Given the description of an element on the screen output the (x, y) to click on. 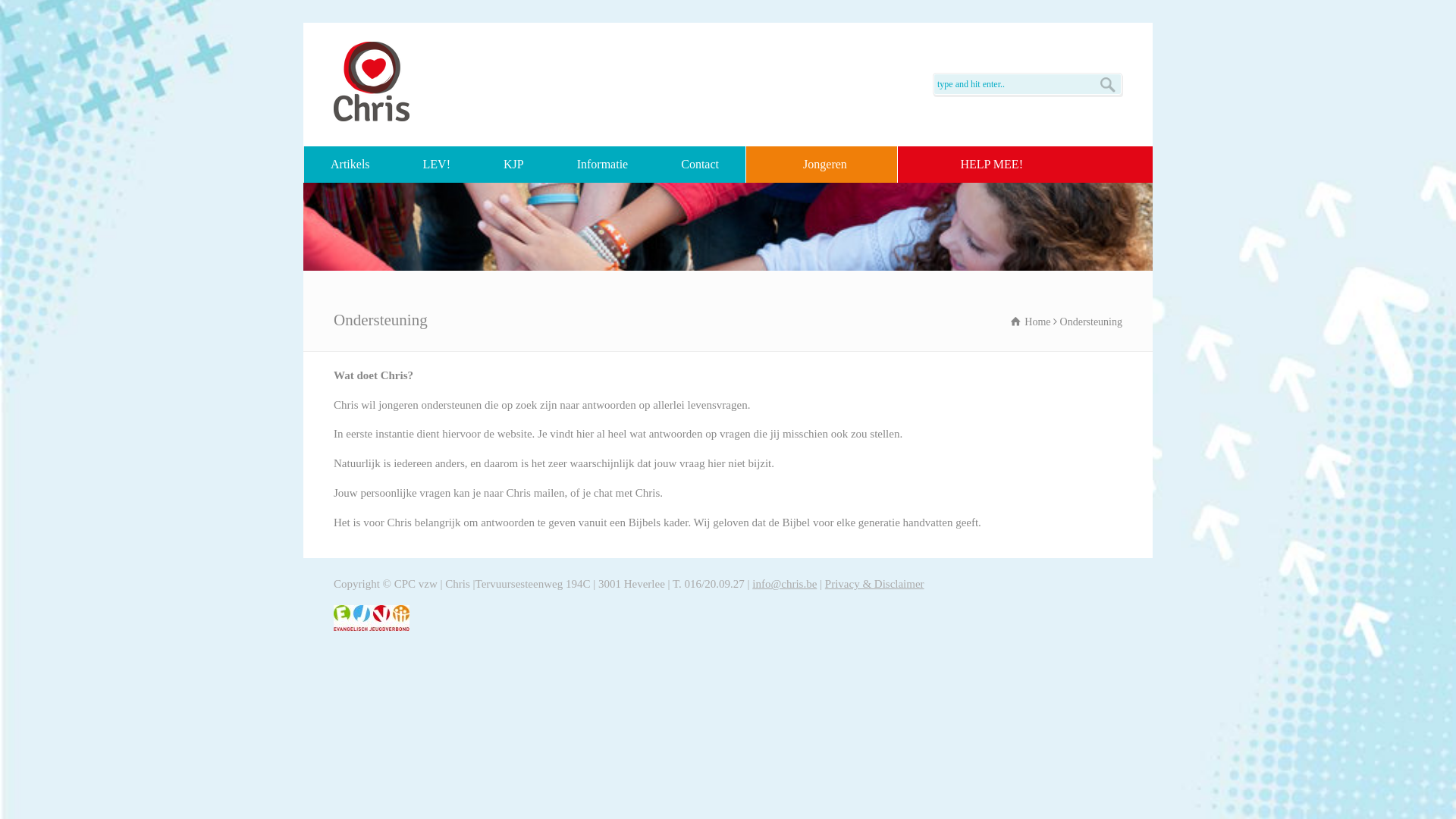
Contact Element type: text (699, 164)
LEV! Element type: text (436, 164)
Home Element type: text (1030, 321)
HELP MEE! Element type: text (973, 164)
KJP Element type: text (513, 164)
Privacy & Disclaimer Element type: text (874, 583)
Jongeren Element type: text (825, 164)
Informatie Element type: text (602, 164)
info@chris.be Element type: text (784, 583)
Artikels Element type: text (350, 164)
